Given the description of an element on the screen output the (x, y) to click on. 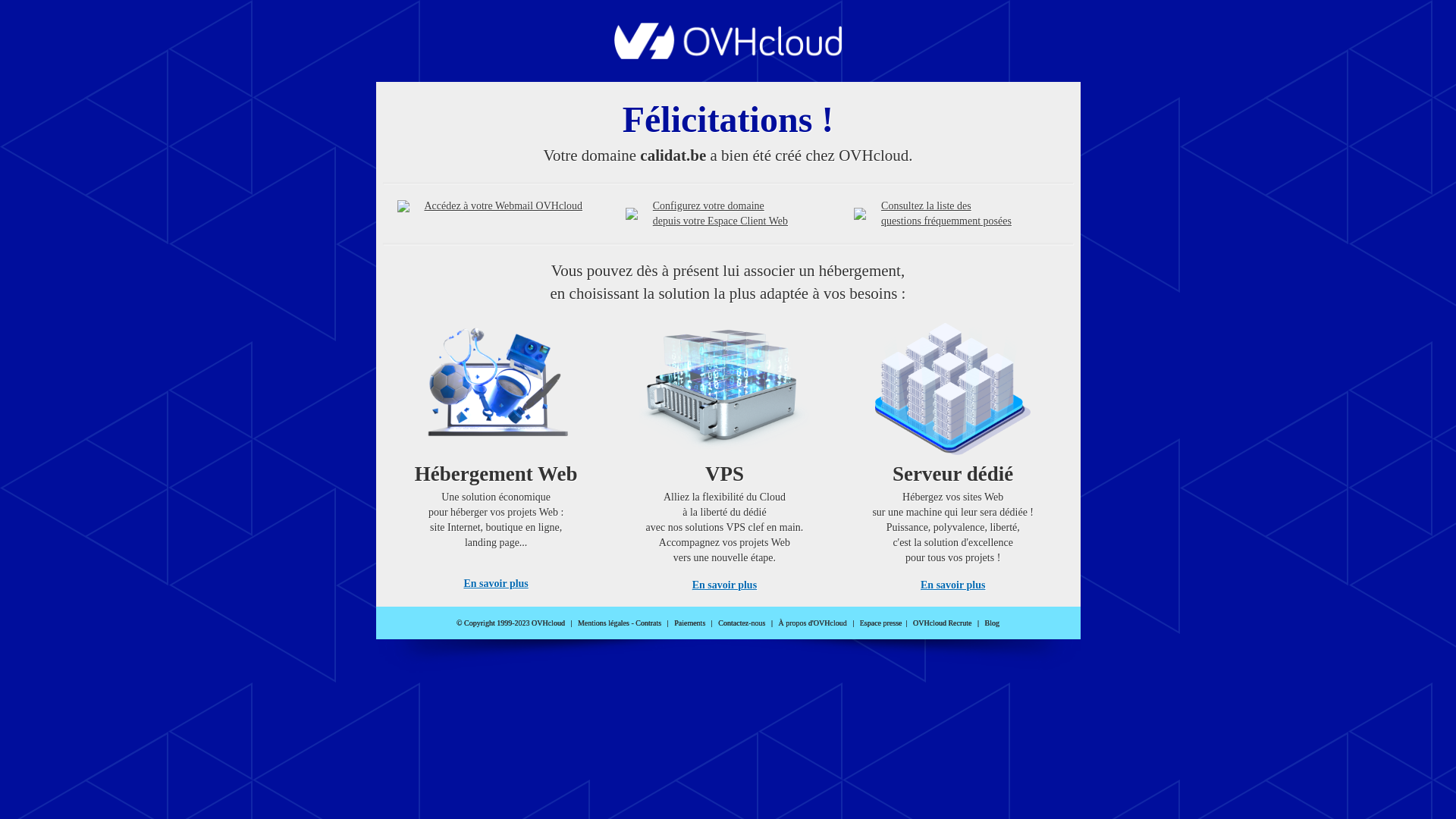
Espace presse Element type: text (880, 622)
Contactez-nous Element type: text (741, 622)
OVHcloud Recrute Element type: text (942, 622)
En savoir plus Element type: text (952, 584)
VPS Element type: hover (724, 451)
Blog Element type: text (992, 622)
Paiements Element type: text (689, 622)
En savoir plus Element type: text (495, 583)
En savoir plus Element type: text (724, 584)
OVHcloud Element type: hover (727, 54)
Configurez votre domaine
depuis votre Espace Client Web Element type: text (719, 213)
